Given the description of an element on the screen output the (x, y) to click on. 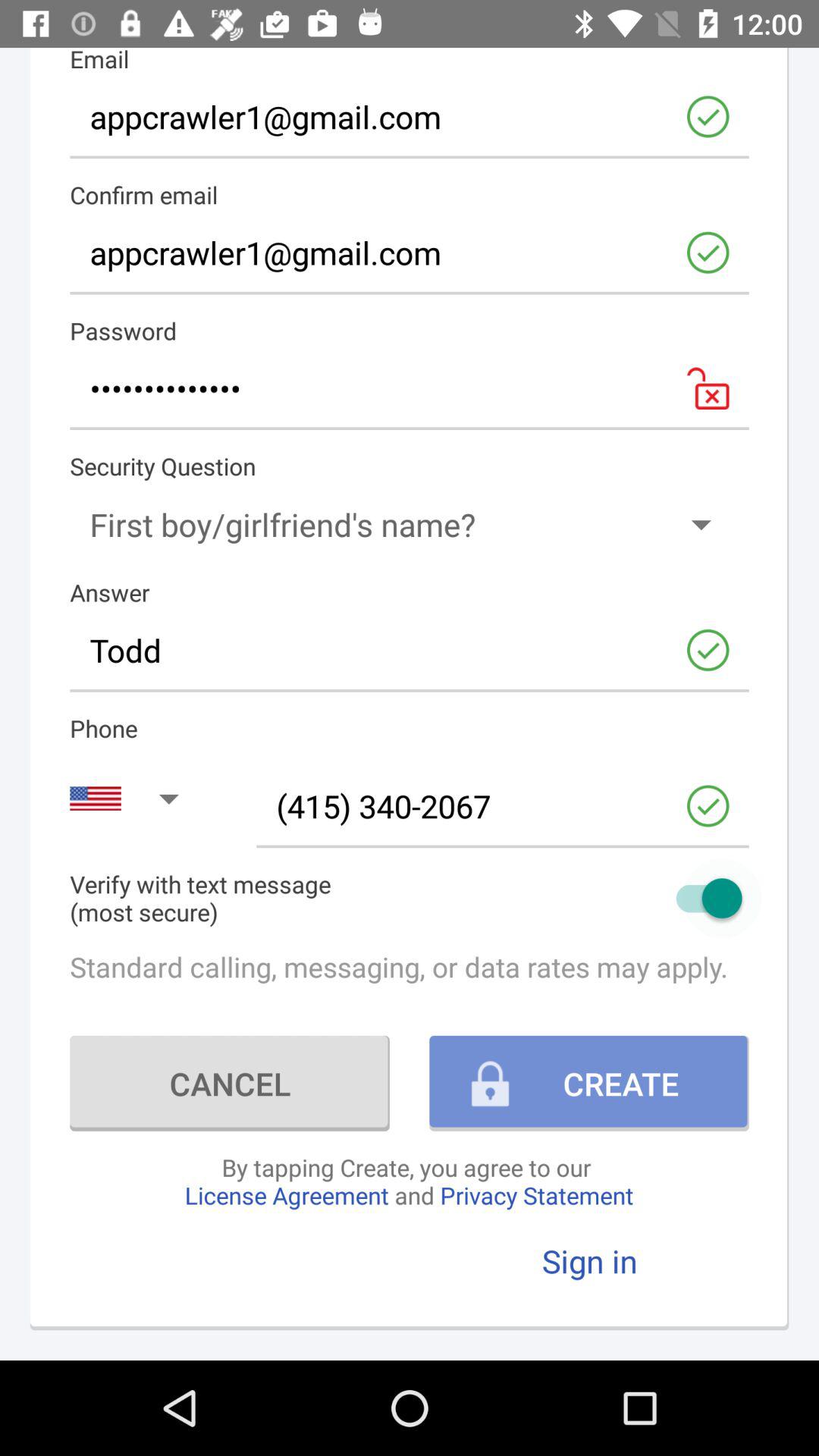
turn off the icon above the sign in icon (408, 1181)
